Given the description of an element on the screen output the (x, y) to click on. 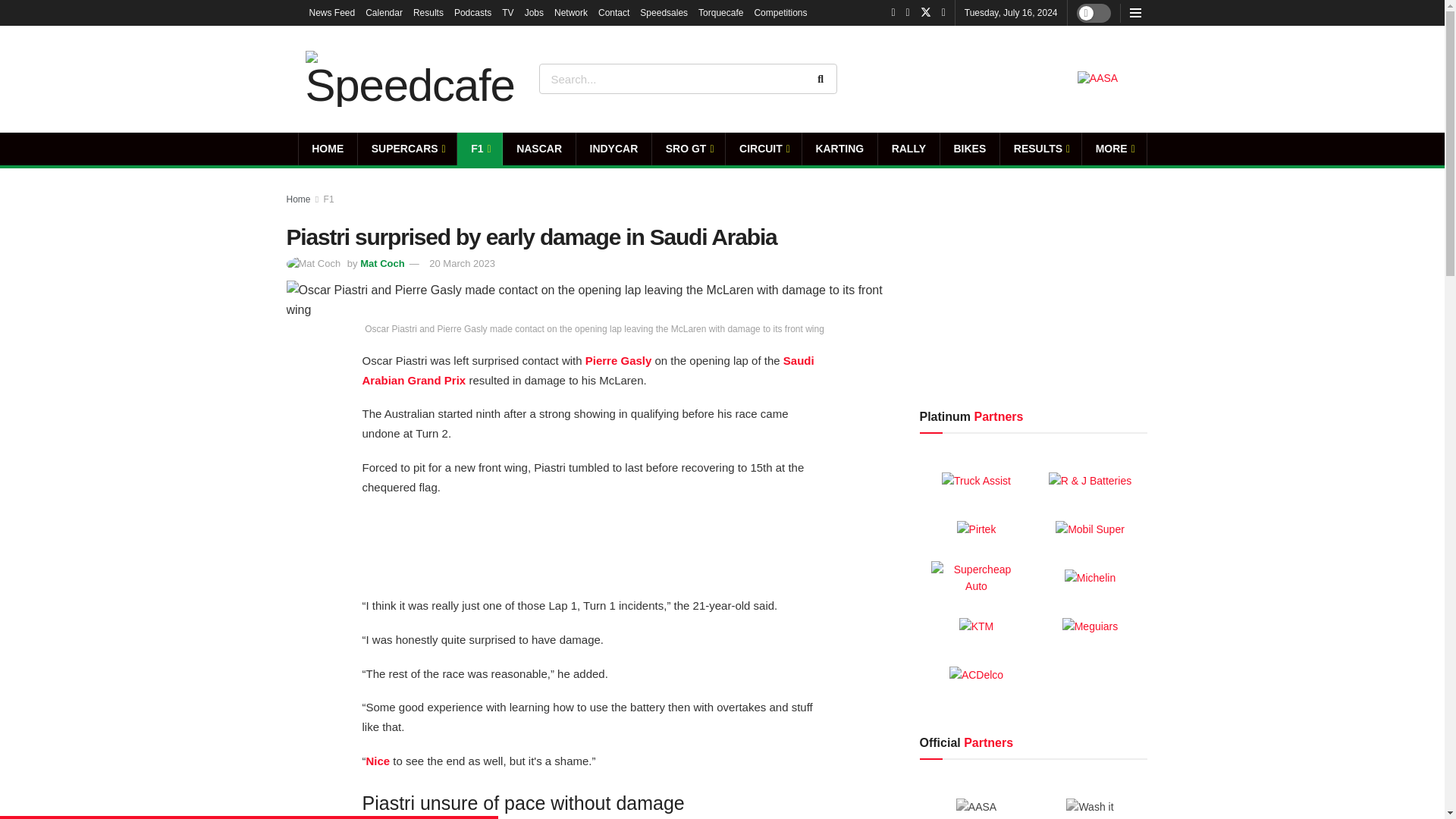
Contact (613, 12)
Torquecafe (720, 12)
Network (571, 12)
News Feed (331, 12)
HOME (327, 148)
AASA (1097, 78)
Speedsales (663, 12)
Calendar (384, 12)
Results (428, 12)
SUPERCARS (407, 148)
F1 (479, 148)
Podcasts (473, 12)
Competitions (780, 12)
